Given the description of an element on the screen output the (x, y) to click on. 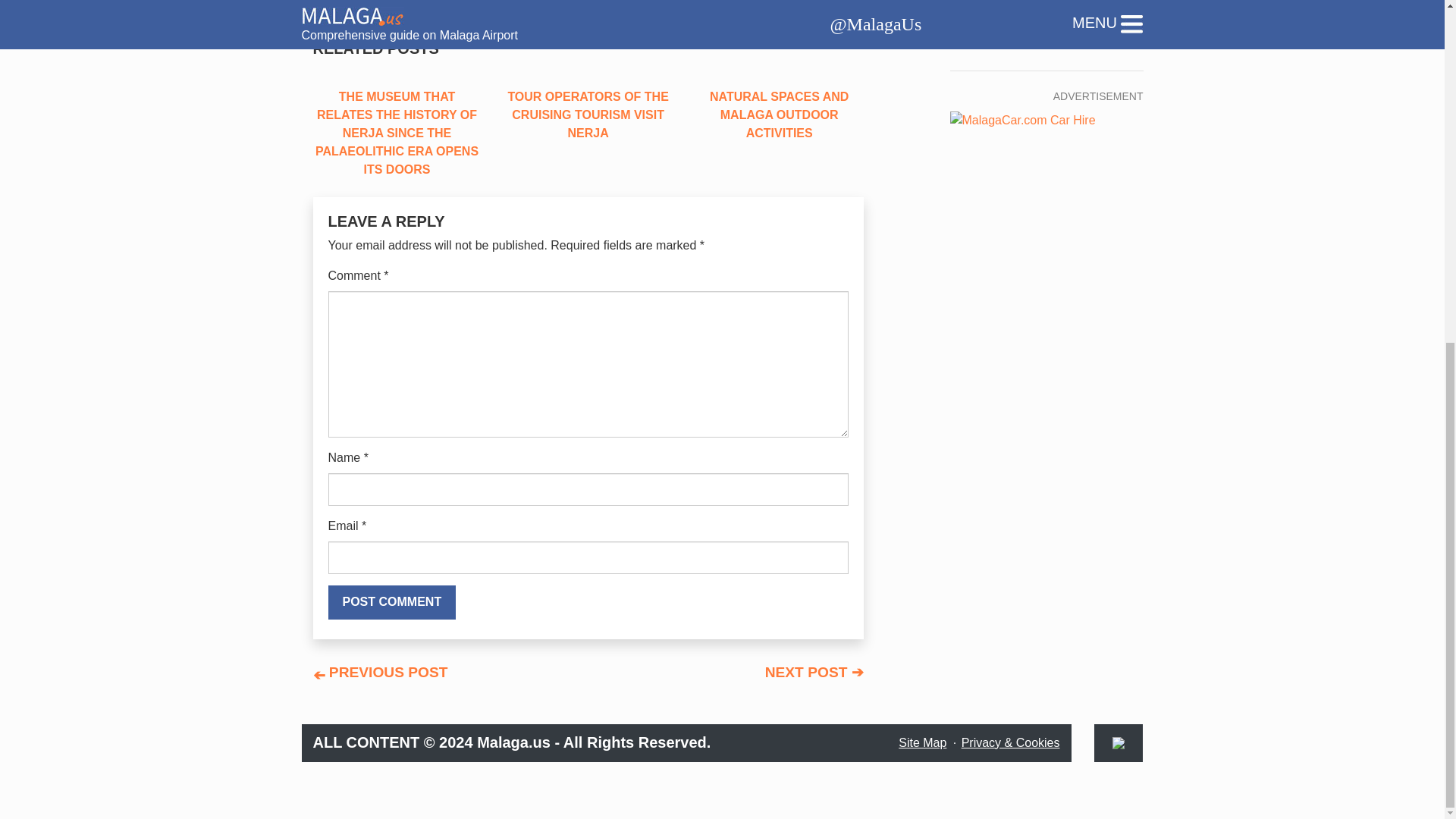
Natural spaces and Malaga outdoor activities (779, 114)
Post Comment (391, 602)
Tour operators of the cruising tourism visit Nerja (587, 114)
